Given the description of an element on the screen output the (x, y) to click on. 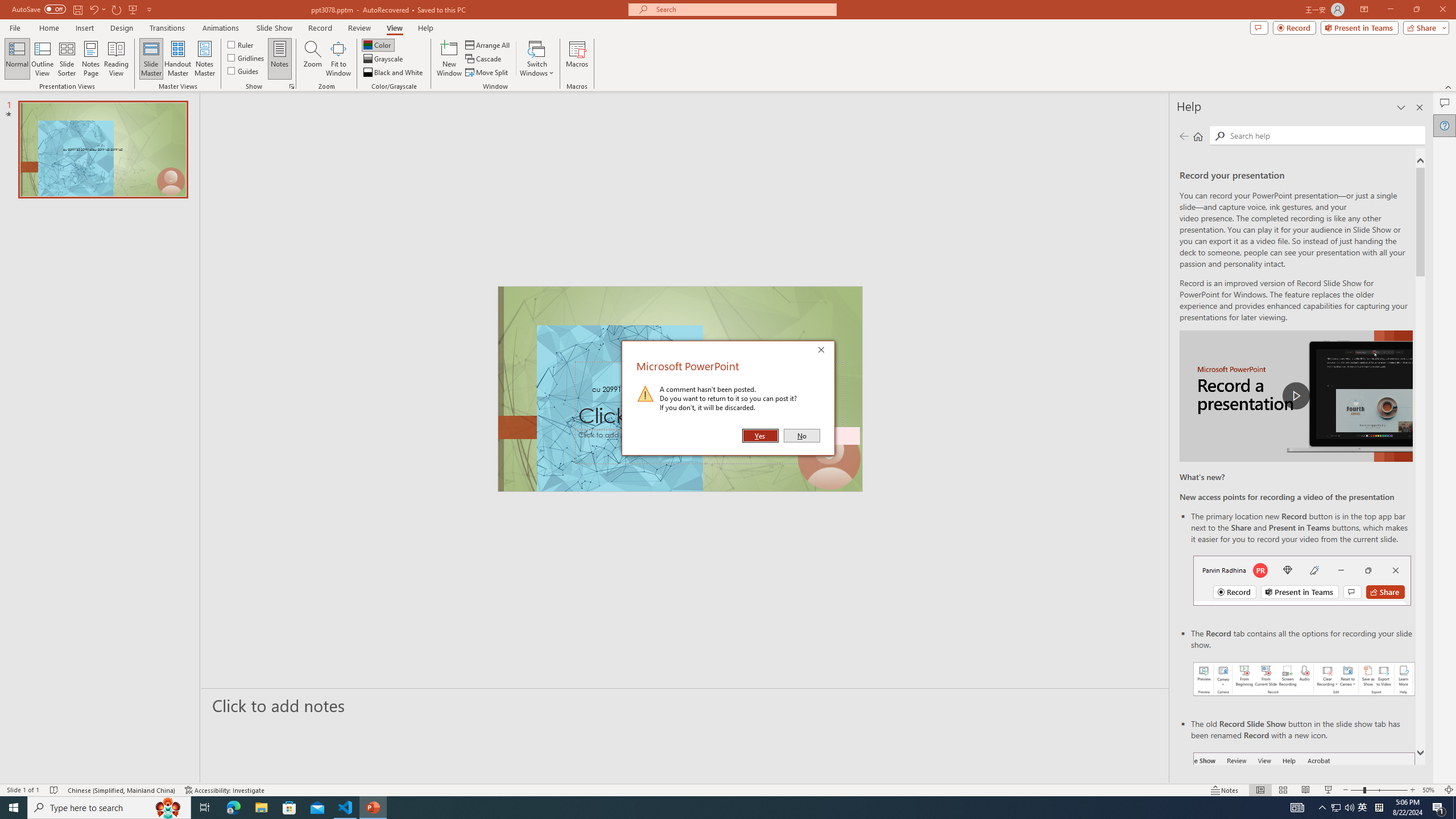
Slide Sorter (1335, 807)
User Promoted Notification Area (1282, 790)
Collapse the Ribbon (1342, 807)
Zoom Out (1448, 86)
Search (1356, 790)
Review (1219, 136)
Fit to Window (359, 28)
Microsoft Edge (338, 58)
Zoom In (233, 807)
New Window (1412, 790)
Color (449, 58)
Macros (377, 44)
Class: MsoCommandBar (576, 58)
Show desktop (728, 789)
